Given the description of an element on the screen output the (x, y) to click on. 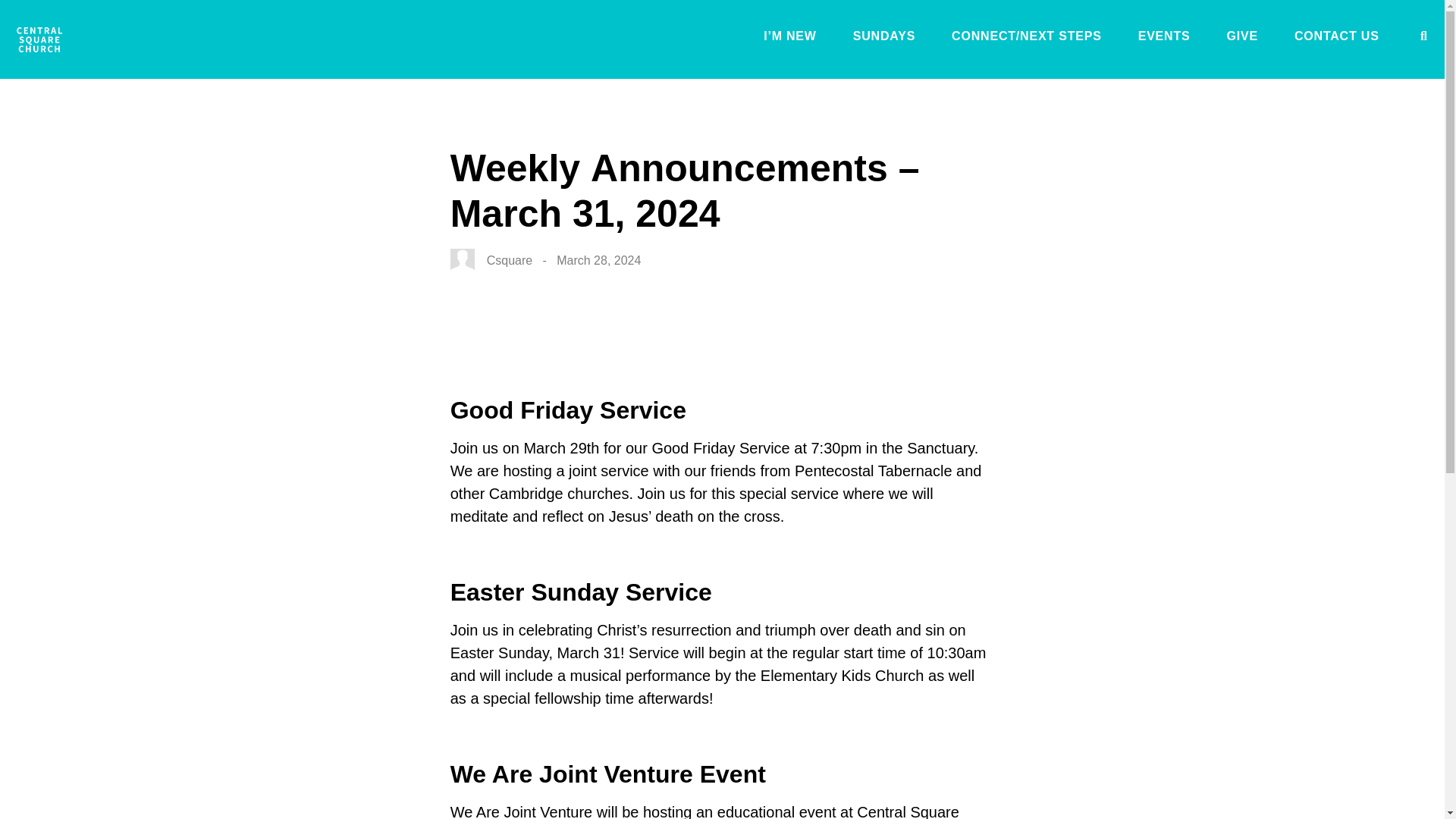
GIVE (1241, 39)
EVENTS (1164, 39)
CONTACT US (1336, 39)
SUNDAYS (884, 39)
